Given the description of an element on the screen output the (x, y) to click on. 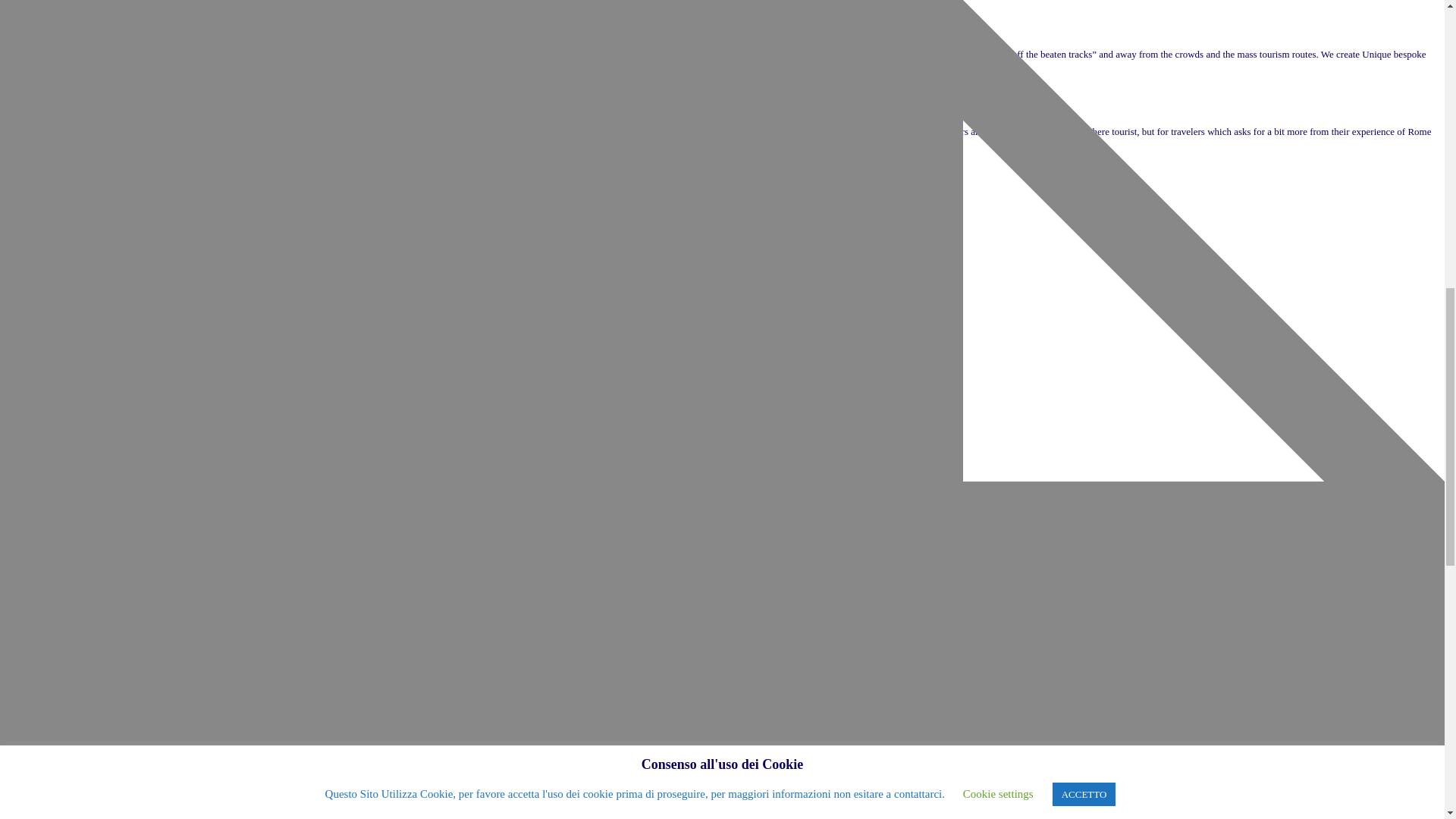
Send (1039, 652)
